Given the description of an element on the screen output the (x, y) to click on. 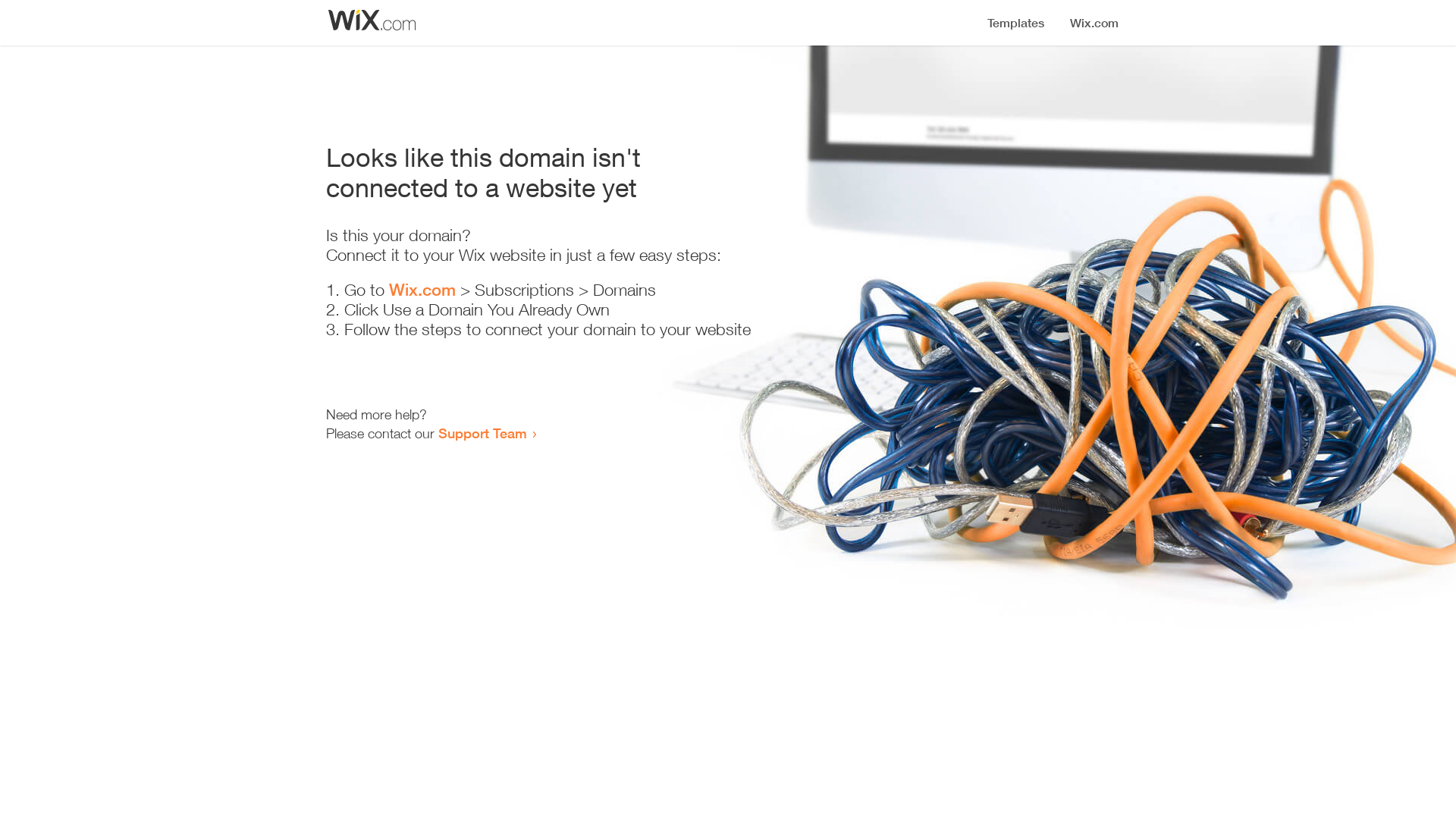
Wix.com Element type: text (422, 289)
Support Team Element type: text (482, 432)
